Given the description of an element on the screen output the (x, y) to click on. 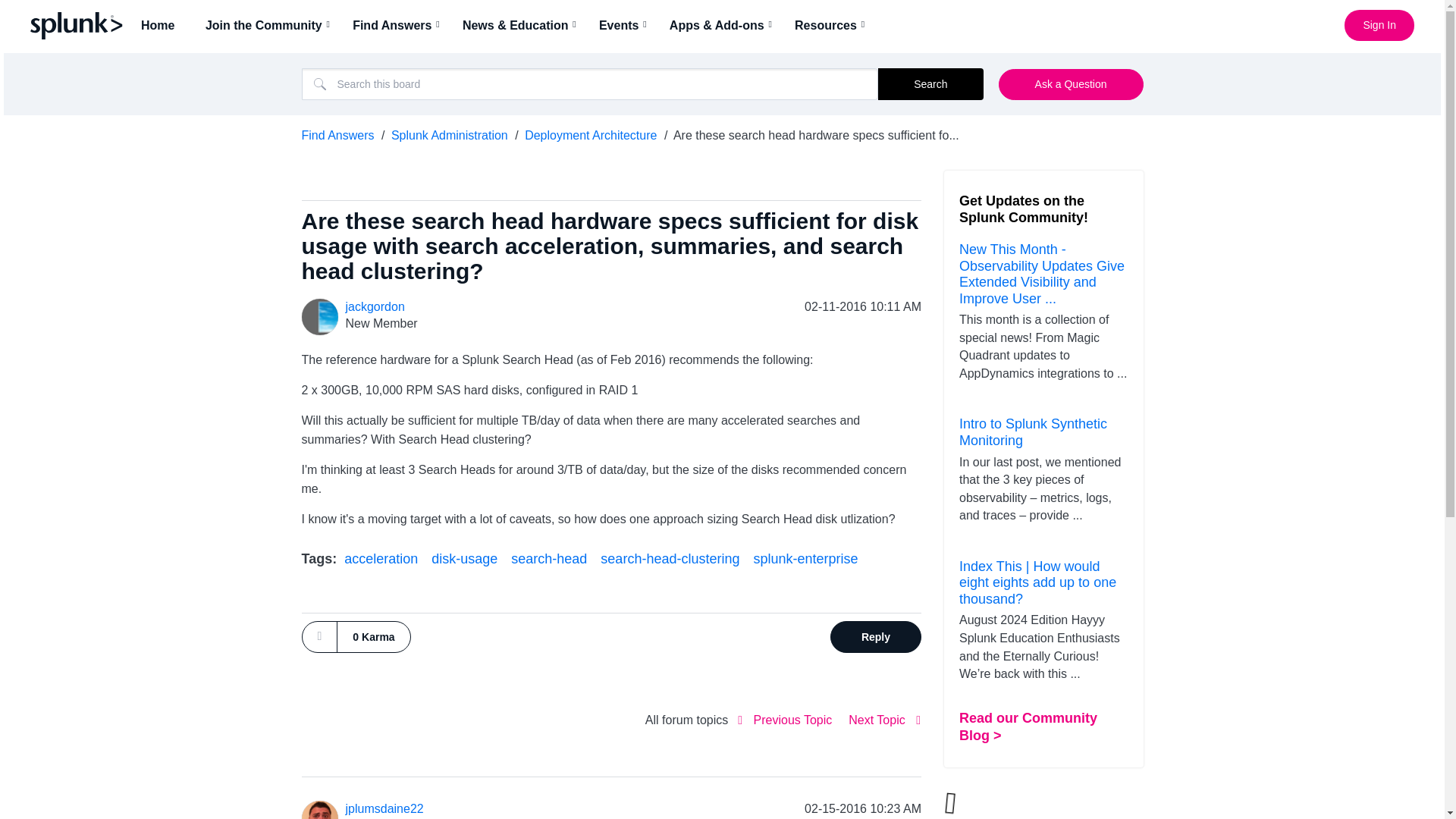
Join the Community (268, 25)
Search (929, 83)
Home (162, 25)
Search (590, 83)
Find Answers (396, 25)
Search (929, 83)
